Given the description of an element on the screen output the (x, y) to click on. 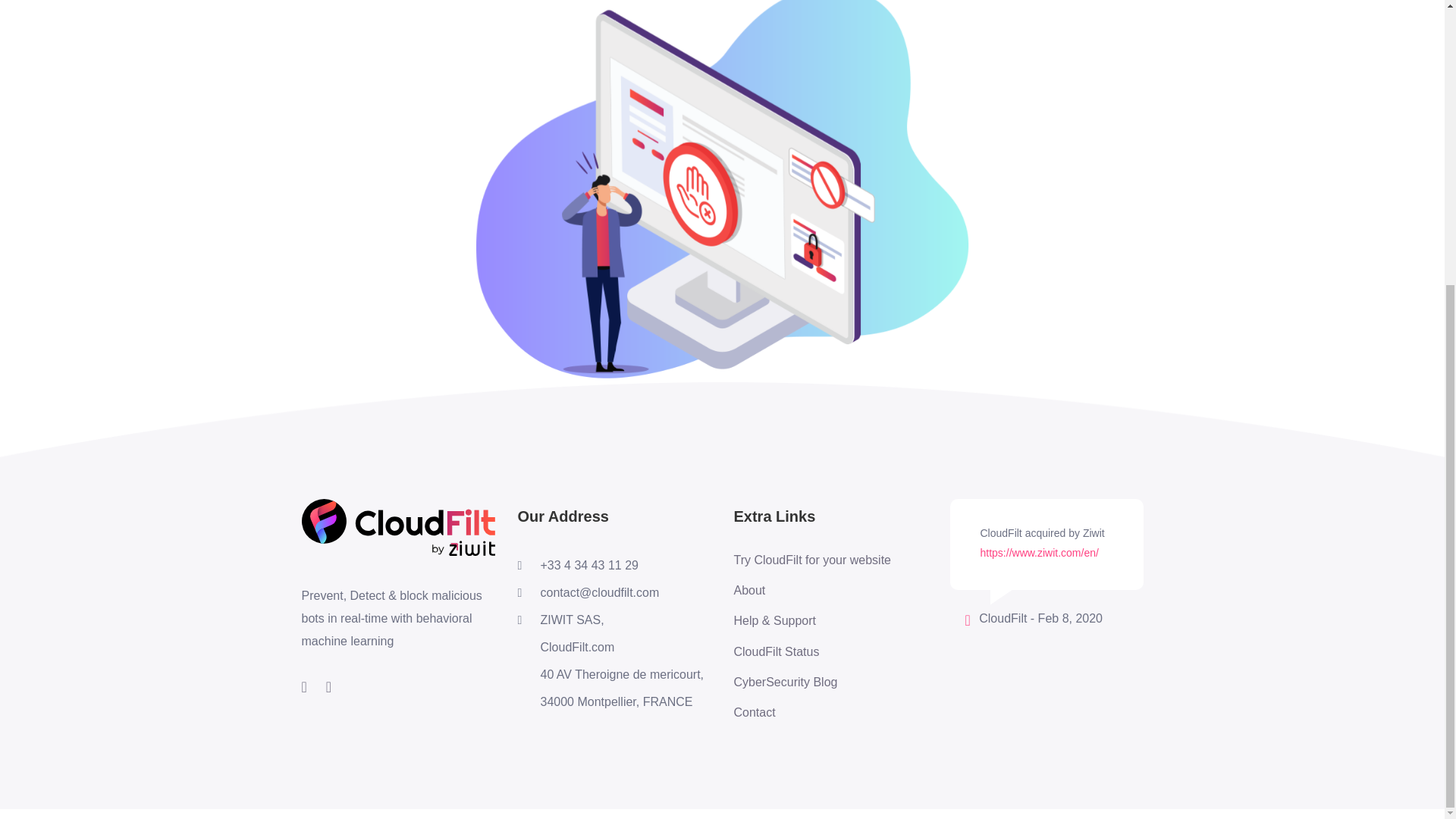
CyberSecurity Blog (812, 682)
Try CloudFilt for your website (812, 559)
About (812, 590)
CloudFilt Status (812, 651)
Contact (812, 712)
